Given the description of an element on the screen output the (x, y) to click on. 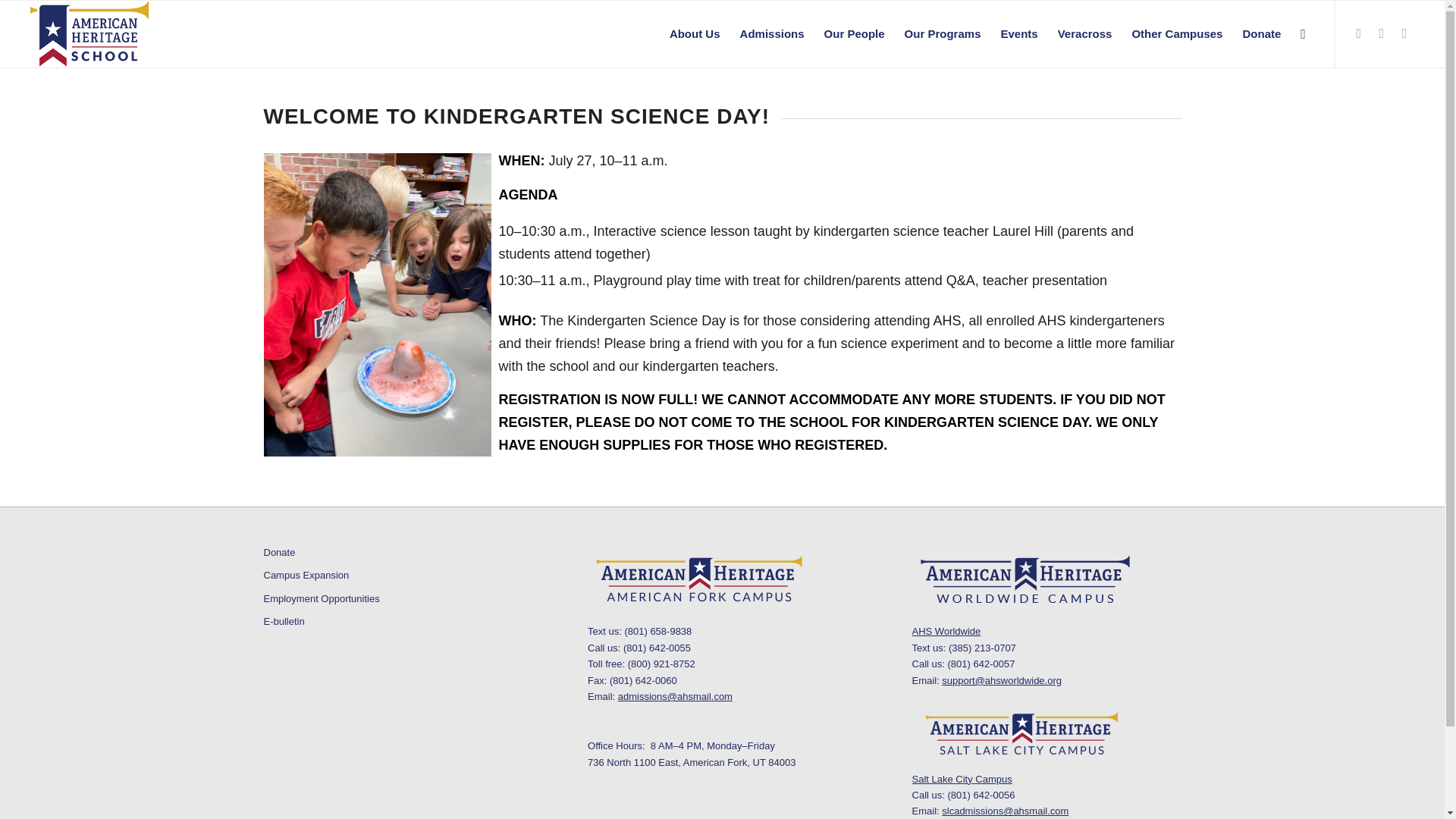
Our Programs (943, 33)
Youtube (1381, 33)
Facebook (1359, 33)
Our People (854, 33)
Admissions (771, 33)
Instagram (1404, 33)
About Us (694, 33)
